Given the description of an element on the screen output the (x, y) to click on. 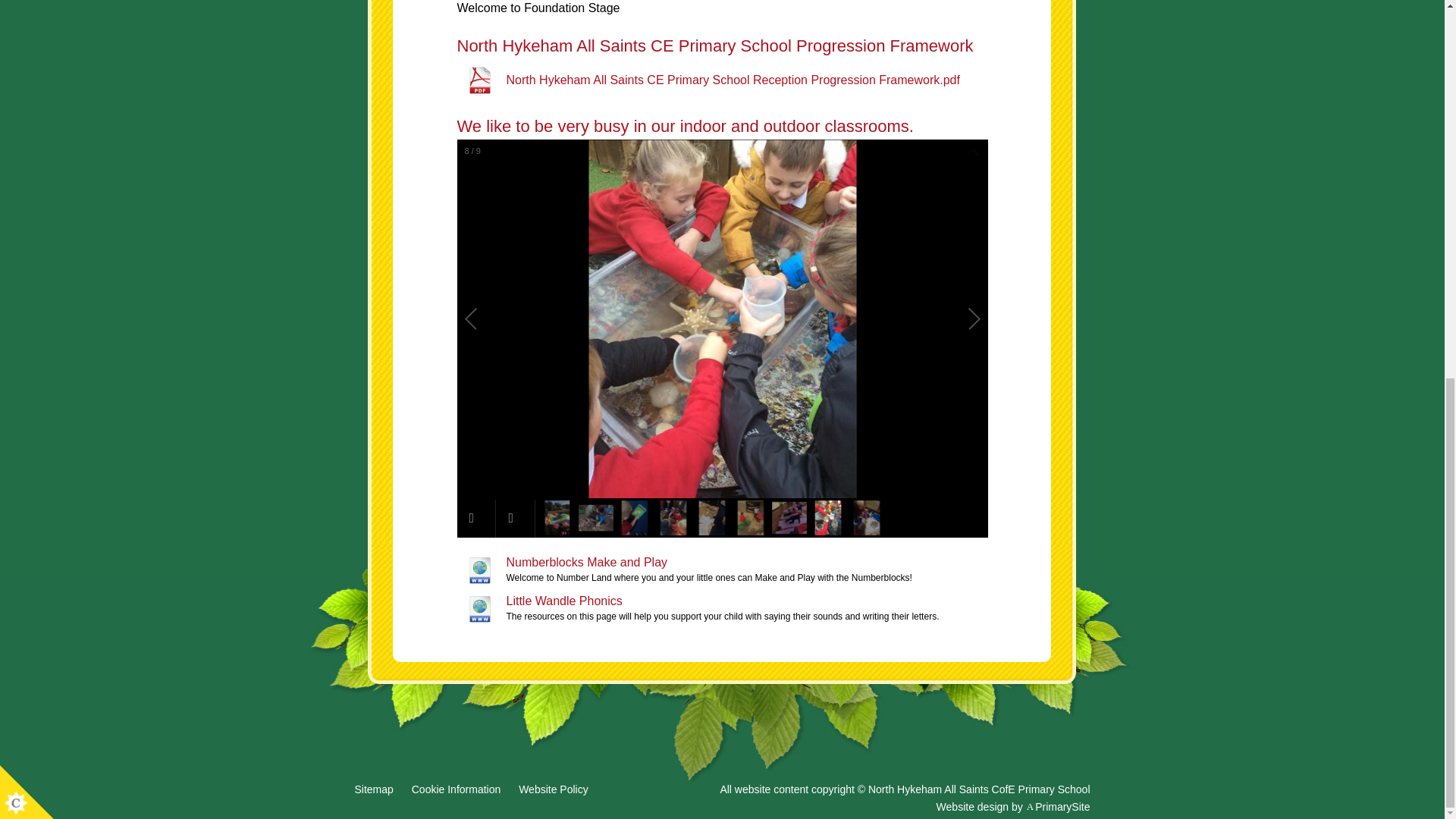
Numberblocks Make and Play (561, 562)
Little Wandle Phonics (539, 601)
